Given the description of an element on the screen output the (x, y) to click on. 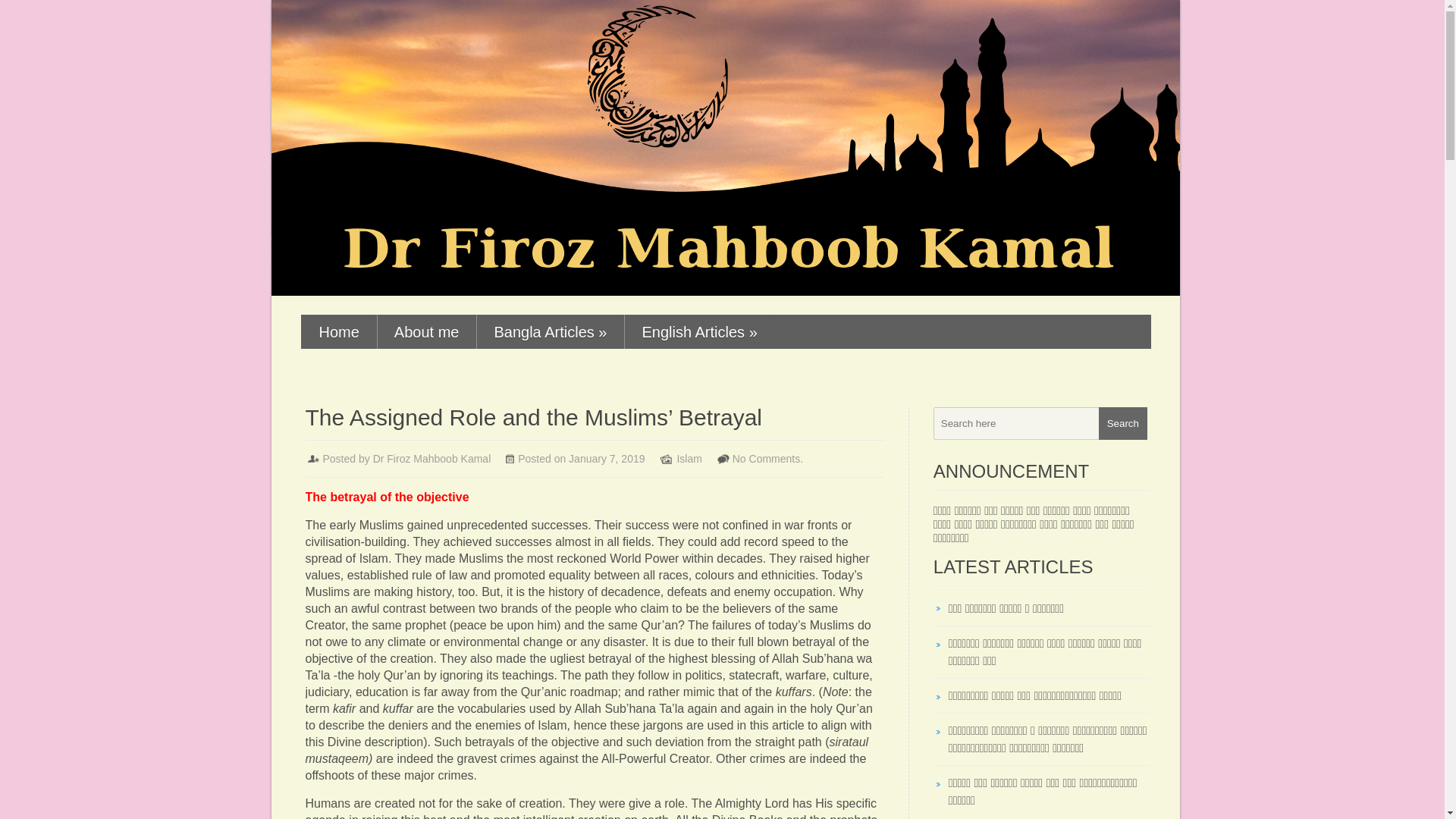
Home (338, 332)
Search (1123, 423)
About me (426, 332)
